Given the description of an element on the screen output the (x, y) to click on. 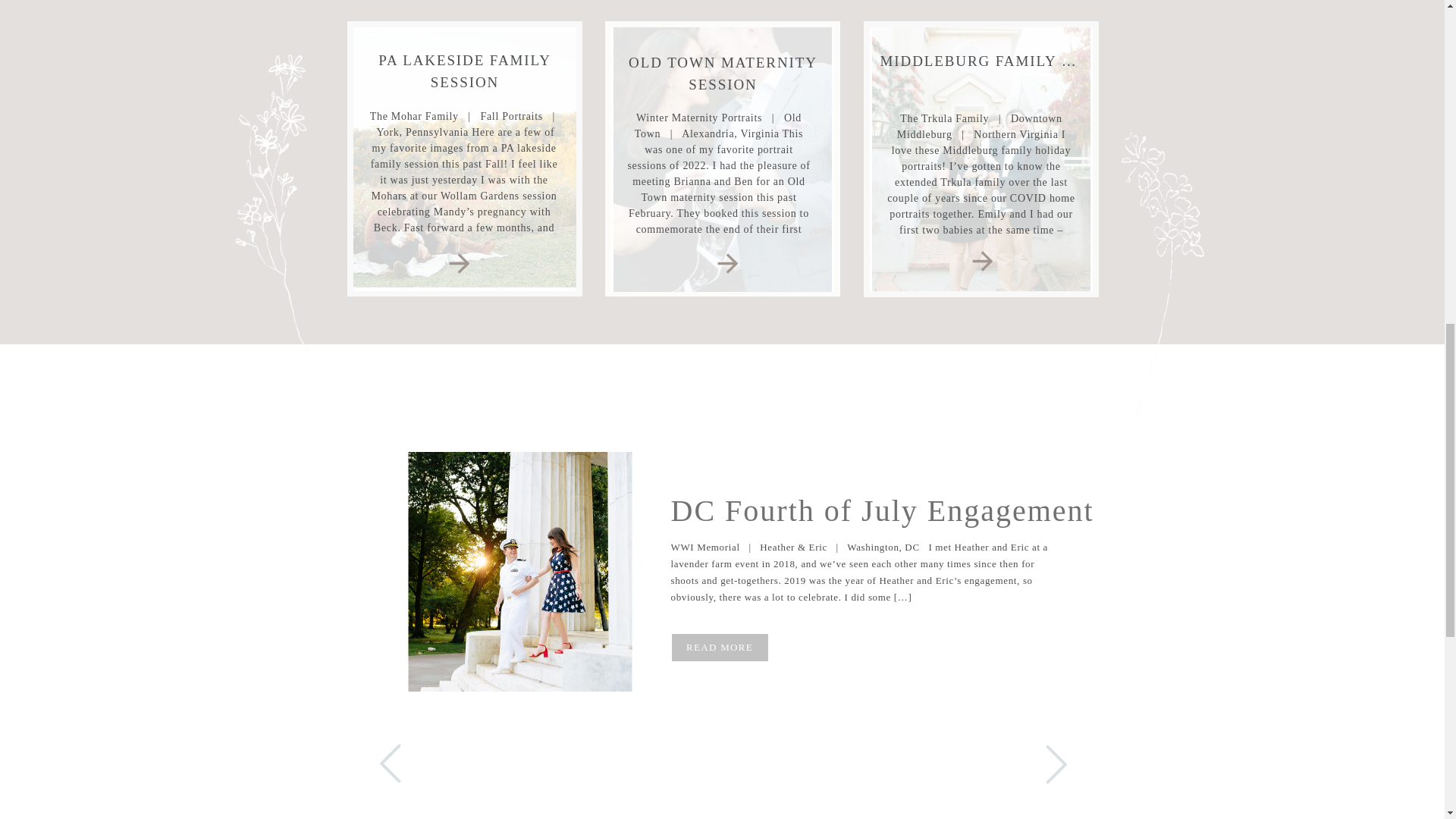
PA LAKESIDE FAMILY SESSION (464, 71)
READ MORE (719, 646)
MIDDLEBURG FAMILY HOLIDAY PORTRAITS (1054, 60)
DC Fourth of July Engagement (881, 510)
DC Fourth of July Engagement (519, 571)
DC Fourth of July Engagement (719, 646)
OLD TOWN MATERNITY SESSION (722, 73)
